Given the description of an element on the screen output the (x, y) to click on. 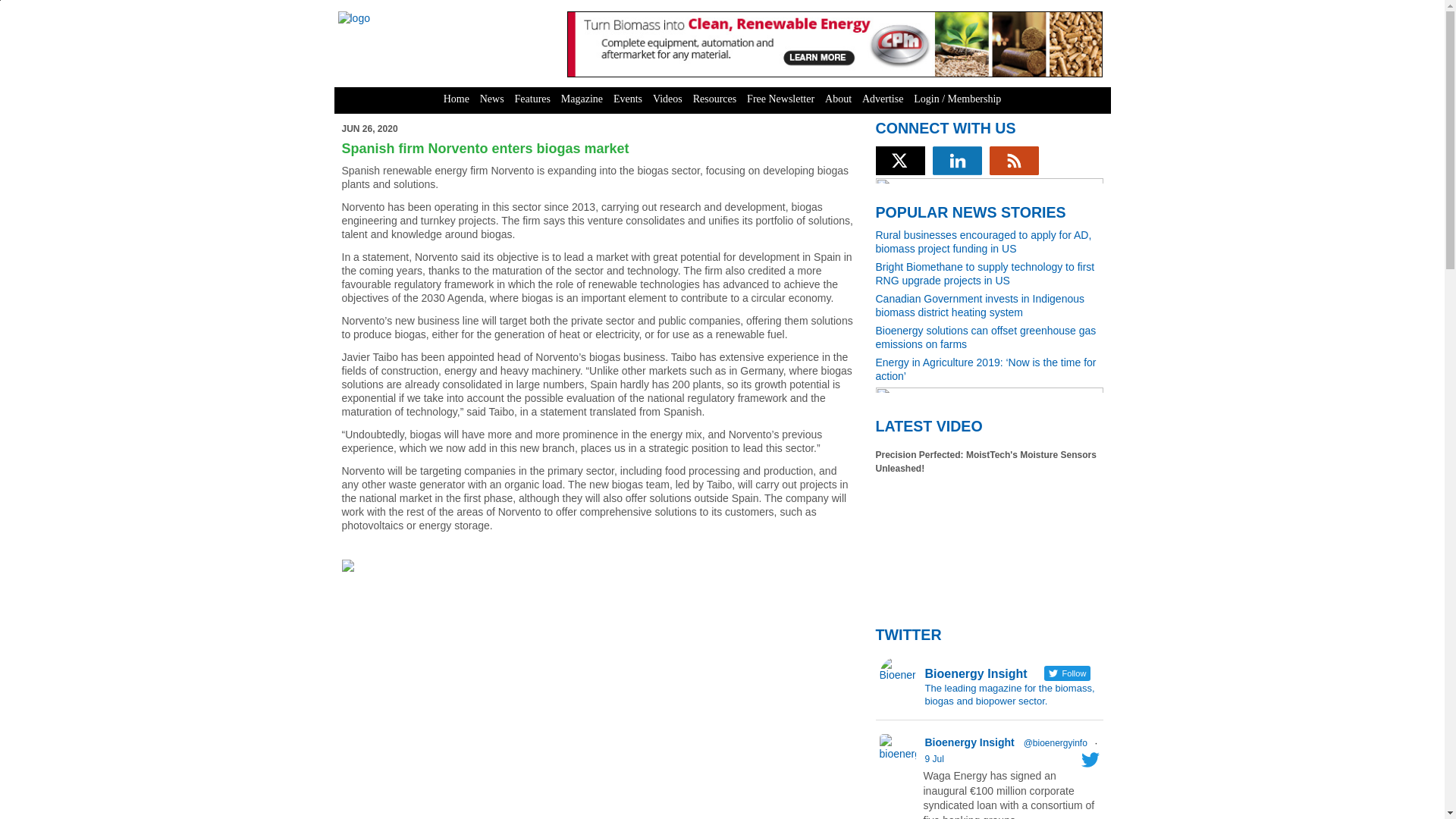
Resources (714, 98)
Magazine (582, 98)
Advertise (883, 98)
Features (532, 98)
Videos (667, 98)
Free Newsletter (780, 98)
